Given the description of an element on the screen output the (x, y) to click on. 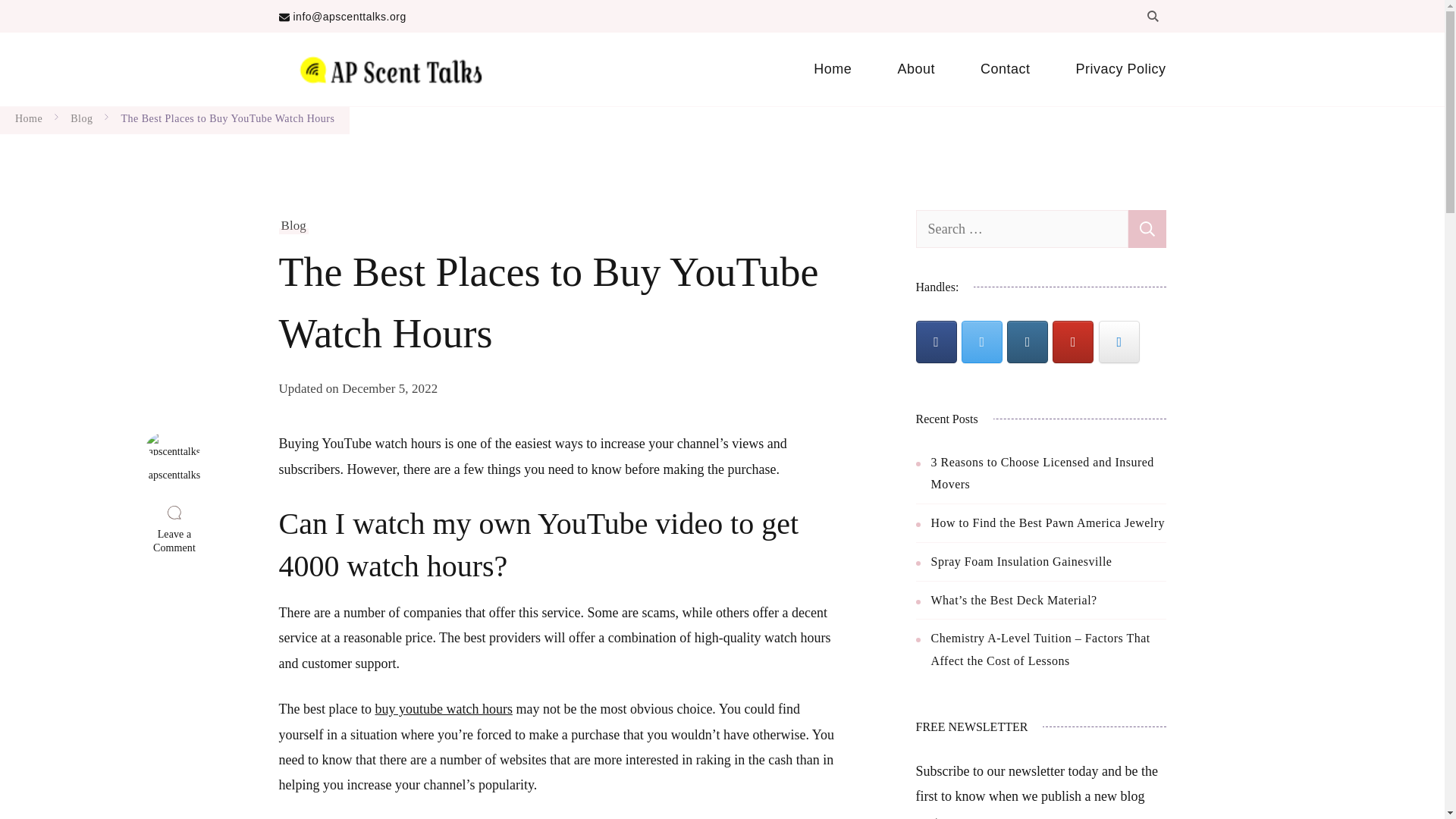
AP Scent Talks on Facebook (935, 342)
About (916, 69)
December 5, 2022 (390, 388)
Privacy Policy (1109, 69)
Home (832, 69)
Contact (1005, 69)
AP Scent Talks (575, 66)
The Best Places to Buy YouTube Watch Hours (227, 119)
buy youtube watch hours (443, 708)
apscenttalks (173, 457)
Search (1147, 228)
Blog (81, 119)
AP Scent Talks on Skype (1119, 342)
AP Scent Talks on Youtube (1072, 342)
